Given the description of an element on the screen output the (x, y) to click on. 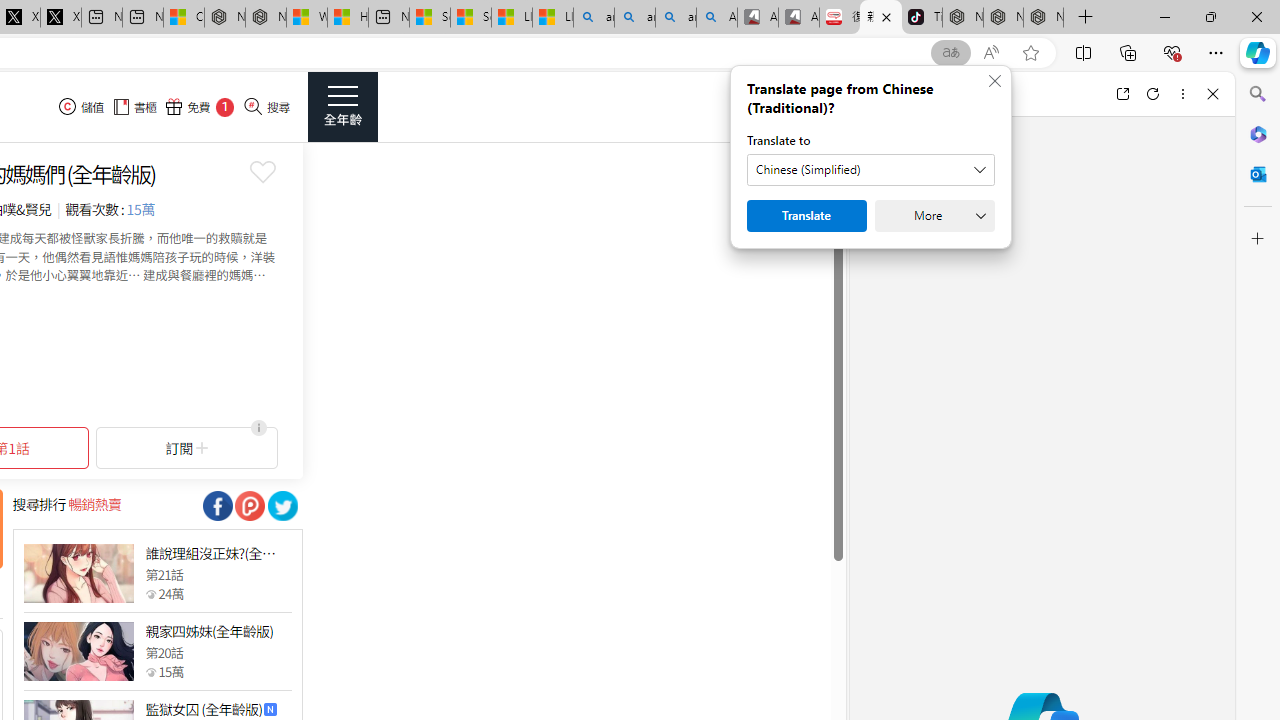
Nordace - Siena Pro 15 Essential Set (1043, 17)
amazon - Search Images (675, 17)
Show translate options (950, 53)
Nordace - Summer Adventures 2024 (265, 17)
All Cubot phones (799, 17)
